Given the description of an element on the screen output the (x, y) to click on. 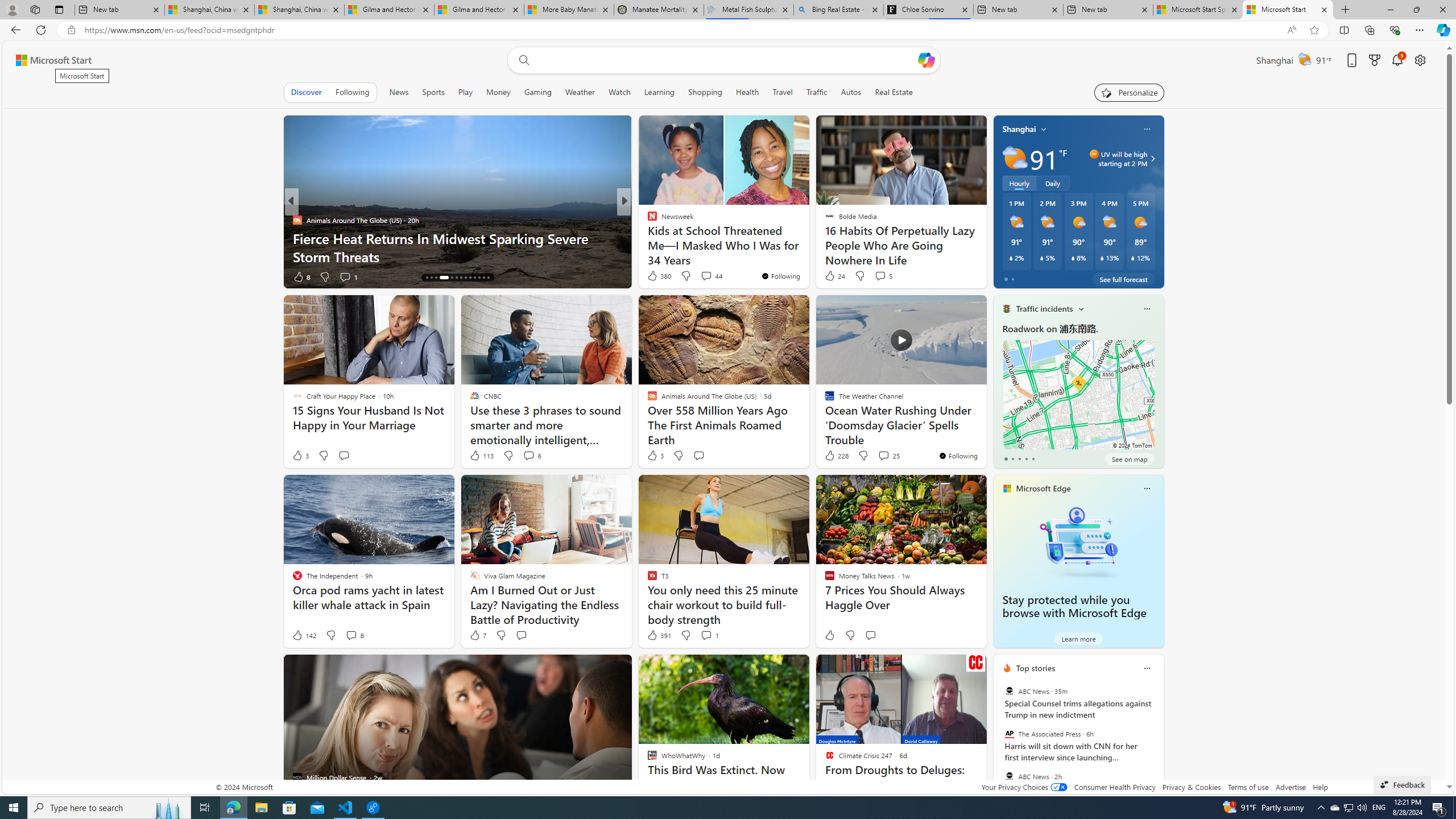
View comments 56 Comment (703, 276)
Consumer Health Privacy (1115, 786)
Partly sunny (1014, 158)
AutomationID: tab-17 (443, 277)
previous (998, 741)
The Weather Channel (647, 238)
Shopping (705, 92)
Class: weather-current-precipitation-glyph (1133, 257)
